Given the description of an element on the screen output the (x, y) to click on. 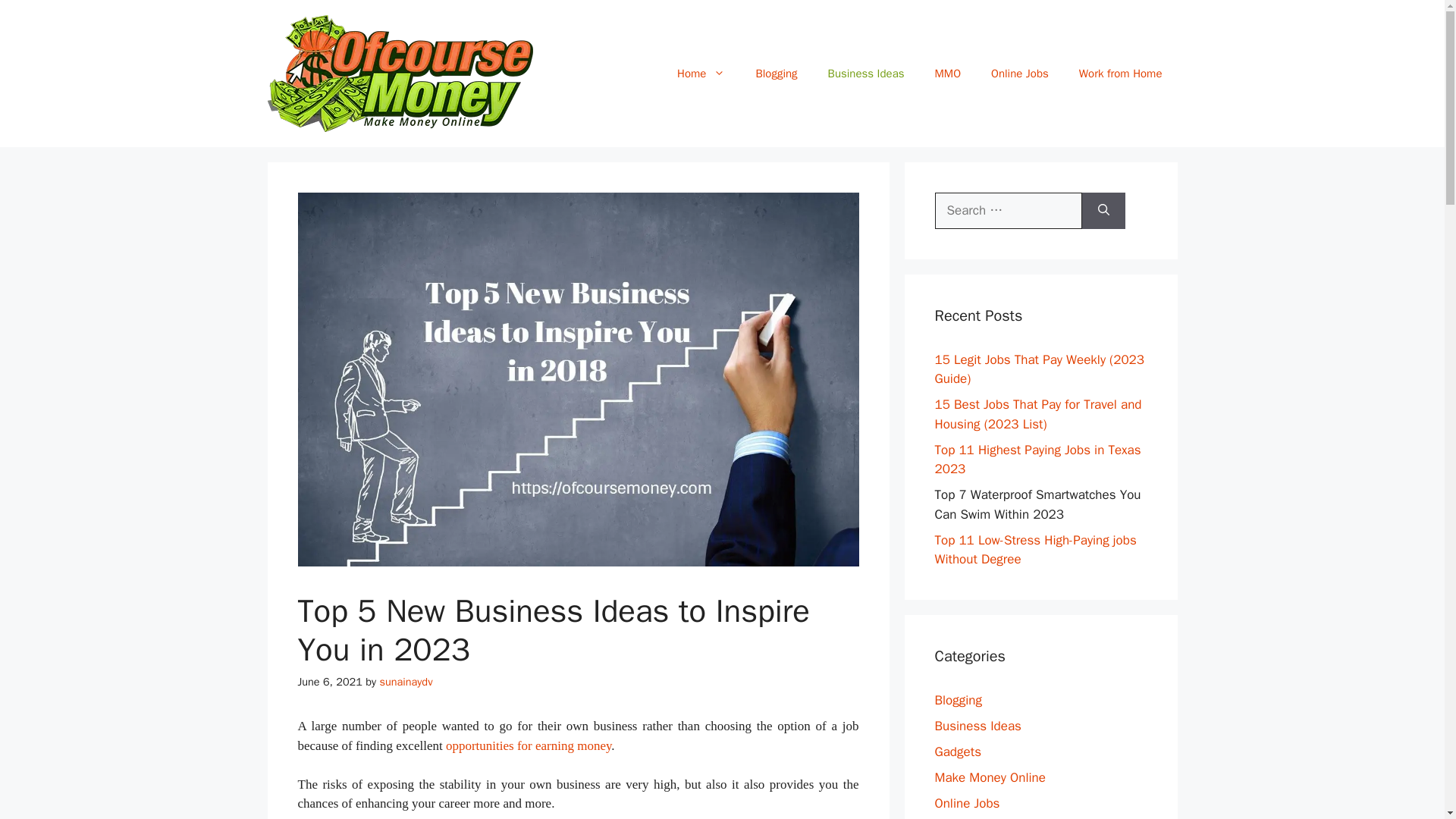
Search for: (1007, 210)
opportunities for earning money (528, 745)
Top 11 Highest Paying Jobs in Texas 2023 (1037, 458)
Business Ideas (977, 725)
View all posts by sunainaydv (405, 681)
Ofcourse Money (399, 73)
Gadgets (956, 750)
Work from Home (1120, 73)
Top 11 Low-Stress High-Paying jobs Without Degree (1034, 550)
Ofcourse Money (399, 72)
Online Jobs (1019, 73)
Home (700, 73)
Blogging (957, 699)
MMO (947, 73)
Business Ideas (866, 73)
